Given the description of an element on the screen output the (x, y) to click on. 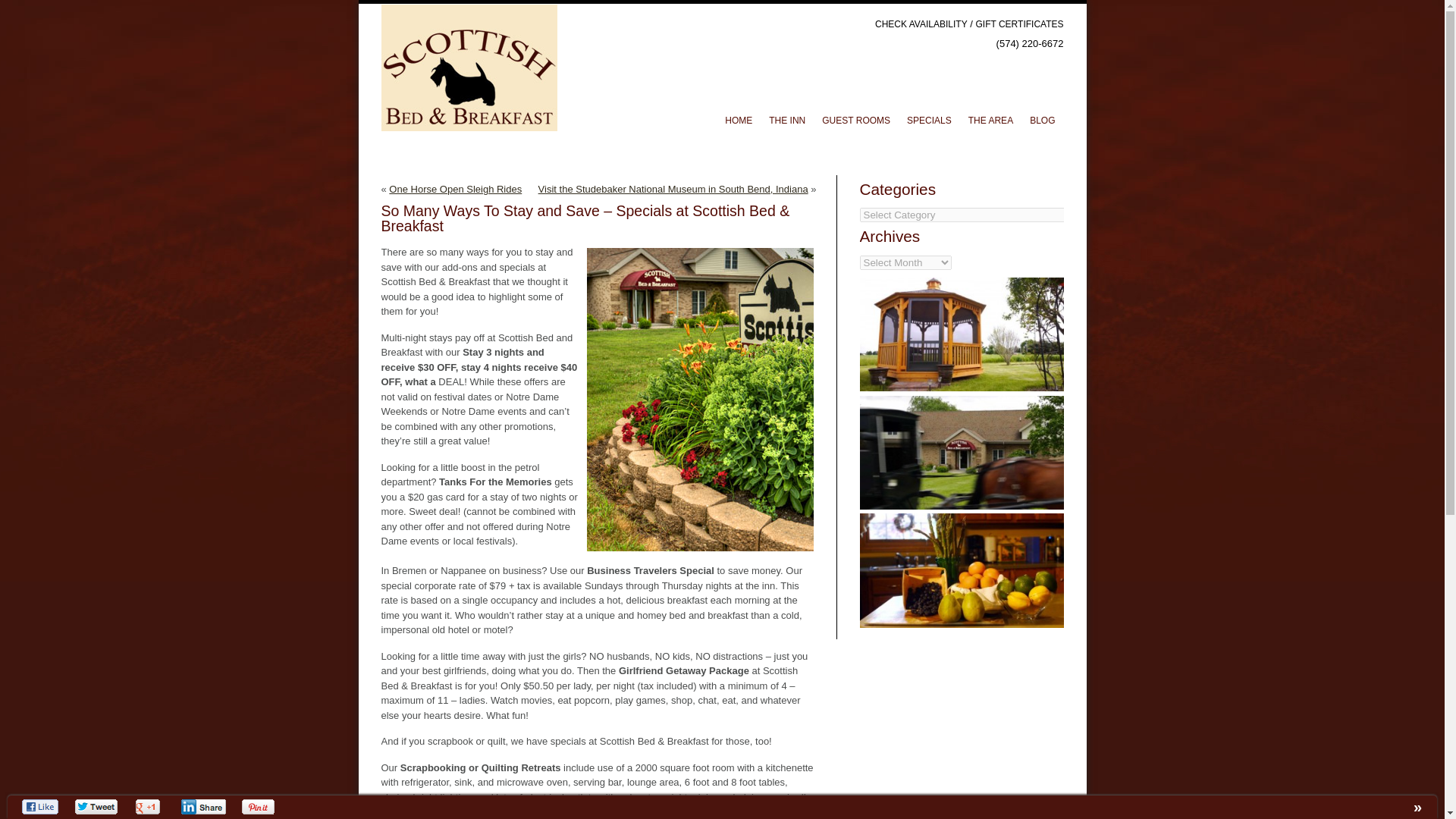
CHECK AVAILABILITY (921, 23)
THE INN (787, 120)
THE AREA (990, 120)
GIFT CERTIFICATES (1018, 23)
SPECIALS (928, 120)
HOME (737, 120)
One Horse Open Sleigh Rides (454, 188)
Visit the Studebaker National Museum in South Bend, Indiana (673, 188)
BLOG (1042, 120)
GUEST ROOMS (856, 120)
